Given the description of an element on the screen output the (x, y) to click on. 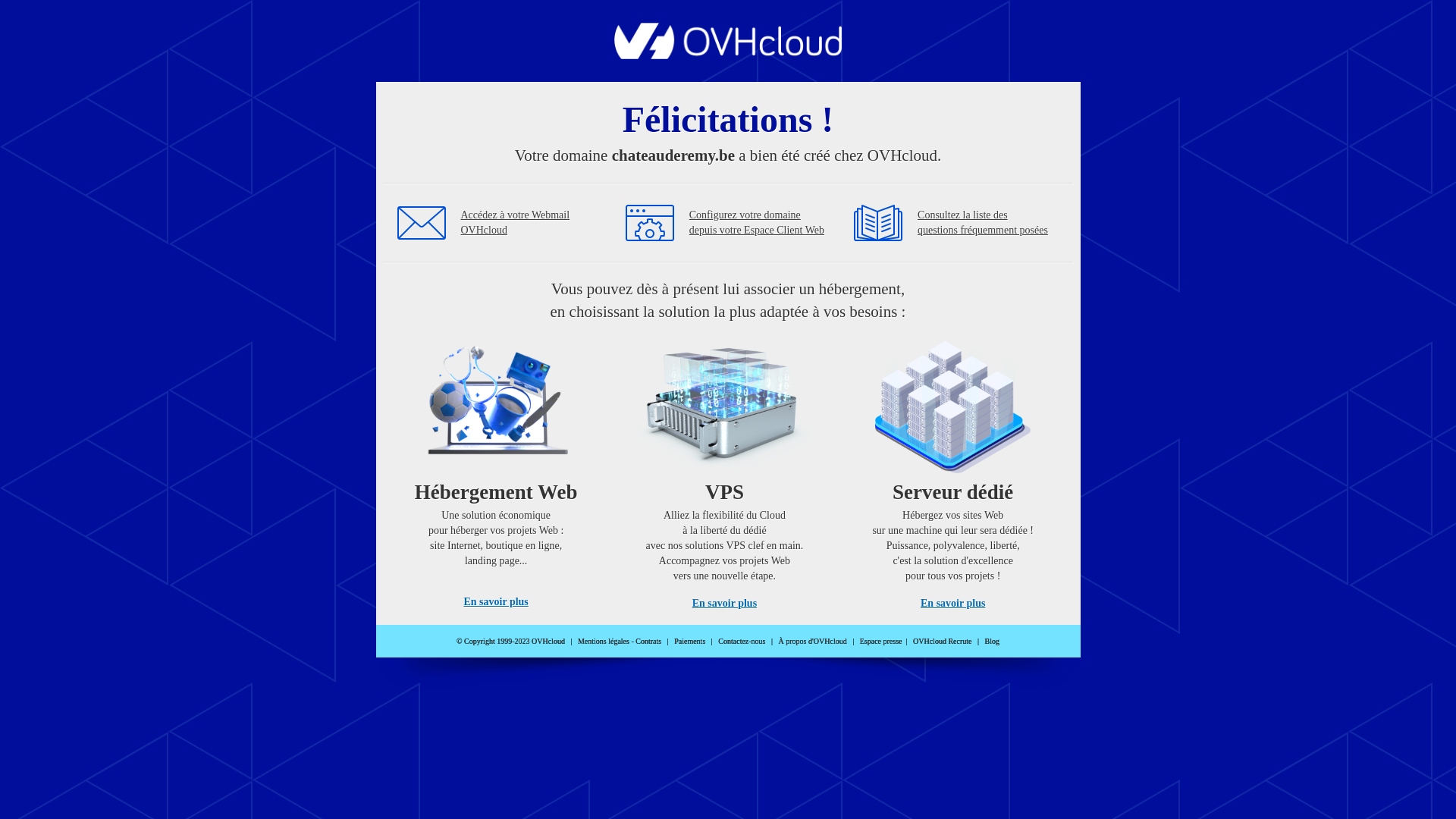
VPS Element type: hover (724, 469)
En savoir plus Element type: text (724, 602)
Contactez-nous Element type: text (741, 641)
En savoir plus Element type: text (495, 601)
OVHcloud Element type: hover (727, 54)
Blog Element type: text (992, 641)
OVHcloud Recrute Element type: text (942, 641)
Espace presse Element type: text (880, 641)
Configurez votre domaine
depuis votre Espace Client Web Element type: text (756, 222)
Paiements Element type: text (689, 641)
En savoir plus Element type: text (952, 602)
